Given the description of an element on the screen output the (x, y) to click on. 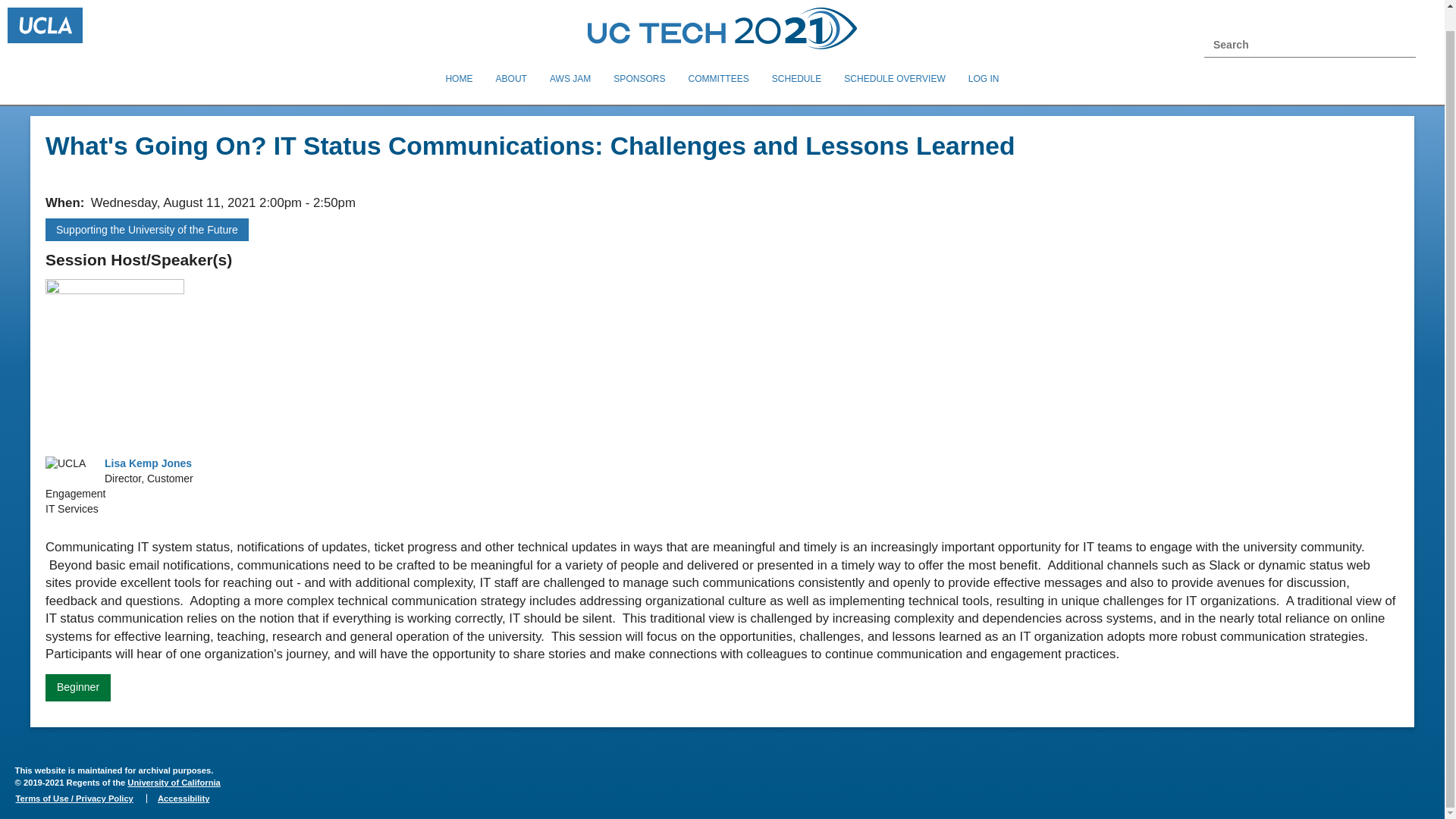
SPONSORS (639, 58)
SCHEDULE OVERVIEW (894, 58)
ABOUT (510, 58)
Lisa Kemp Jones (148, 463)
HOME (458, 58)
University of California (173, 782)
Accessibility (183, 798)
LOG IN (983, 58)
Enter the terms you wish to search for. (1310, 23)
Home (722, 20)
